Given the description of an element on the screen output the (x, y) to click on. 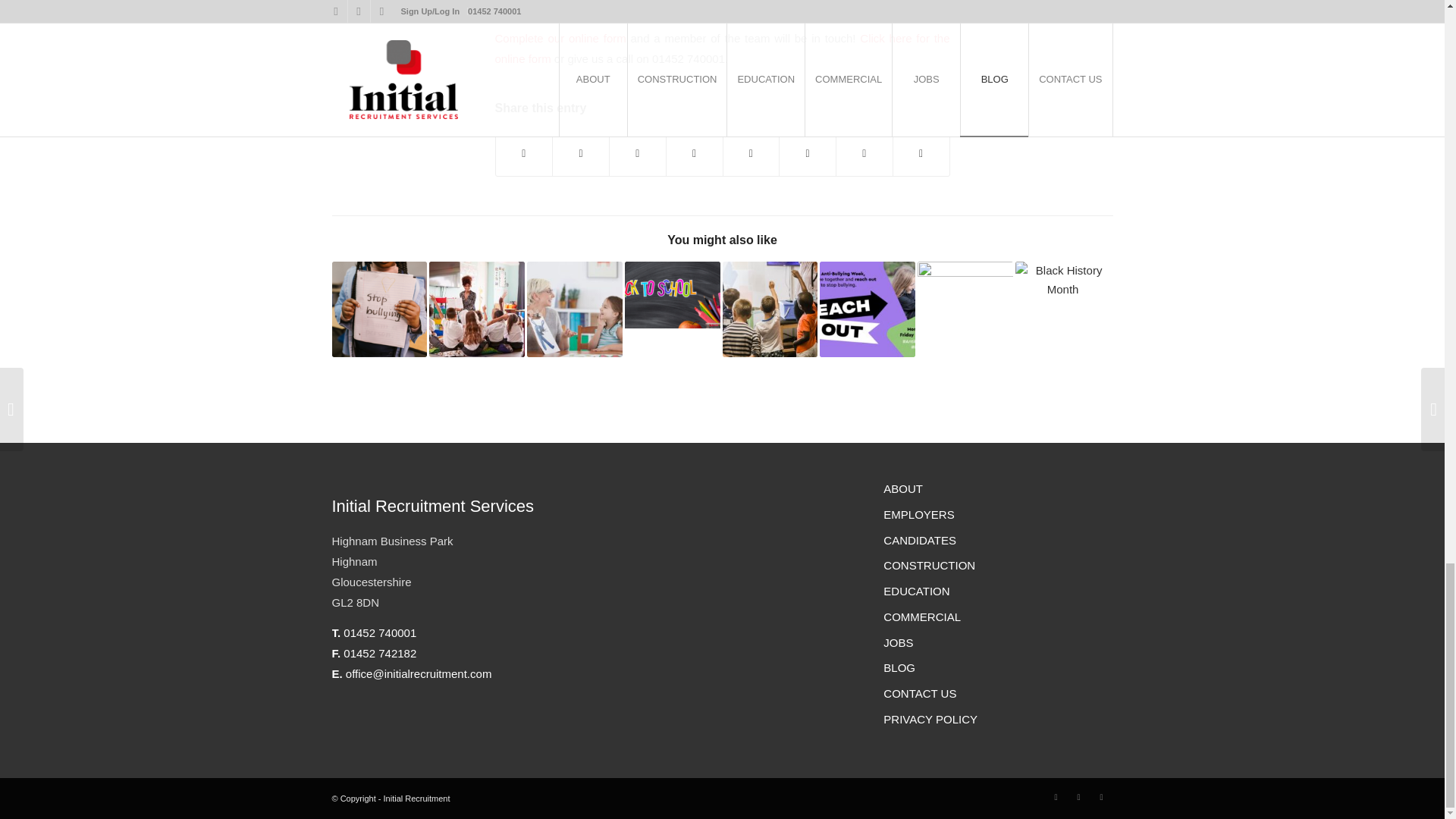
we would love to hear from you (842, 7)
Complete our online form (560, 38)
Click here for the online form (722, 48)
